Given the description of an element on the screen output the (x, y) to click on. 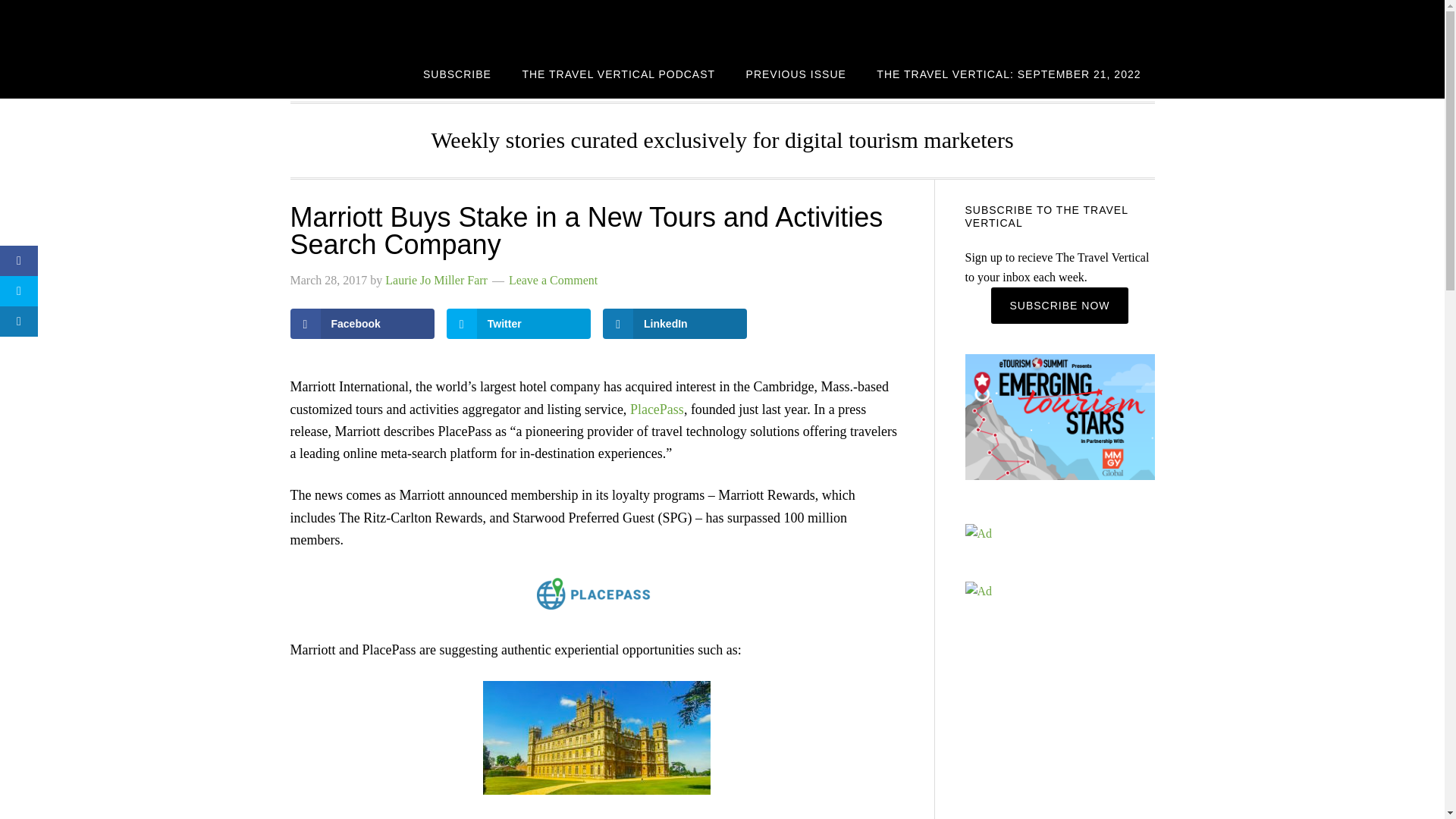
THE TRAVEL VERTICAL PODCAST (618, 73)
Facebook (361, 323)
THE TRAVEL VERTICAL: SEPTEMBER 21, 2022 (1008, 73)
THE TRAVEL VERTICAL (410, 24)
Subscribe Now (1058, 305)
Leave a Comment (552, 279)
LinkedIn (674, 323)
Twitter (518, 323)
PREVIOUS ISSUE (796, 73)
Laurie Jo Miller Farr (436, 279)
